Given the description of an element on the screen output the (x, y) to click on. 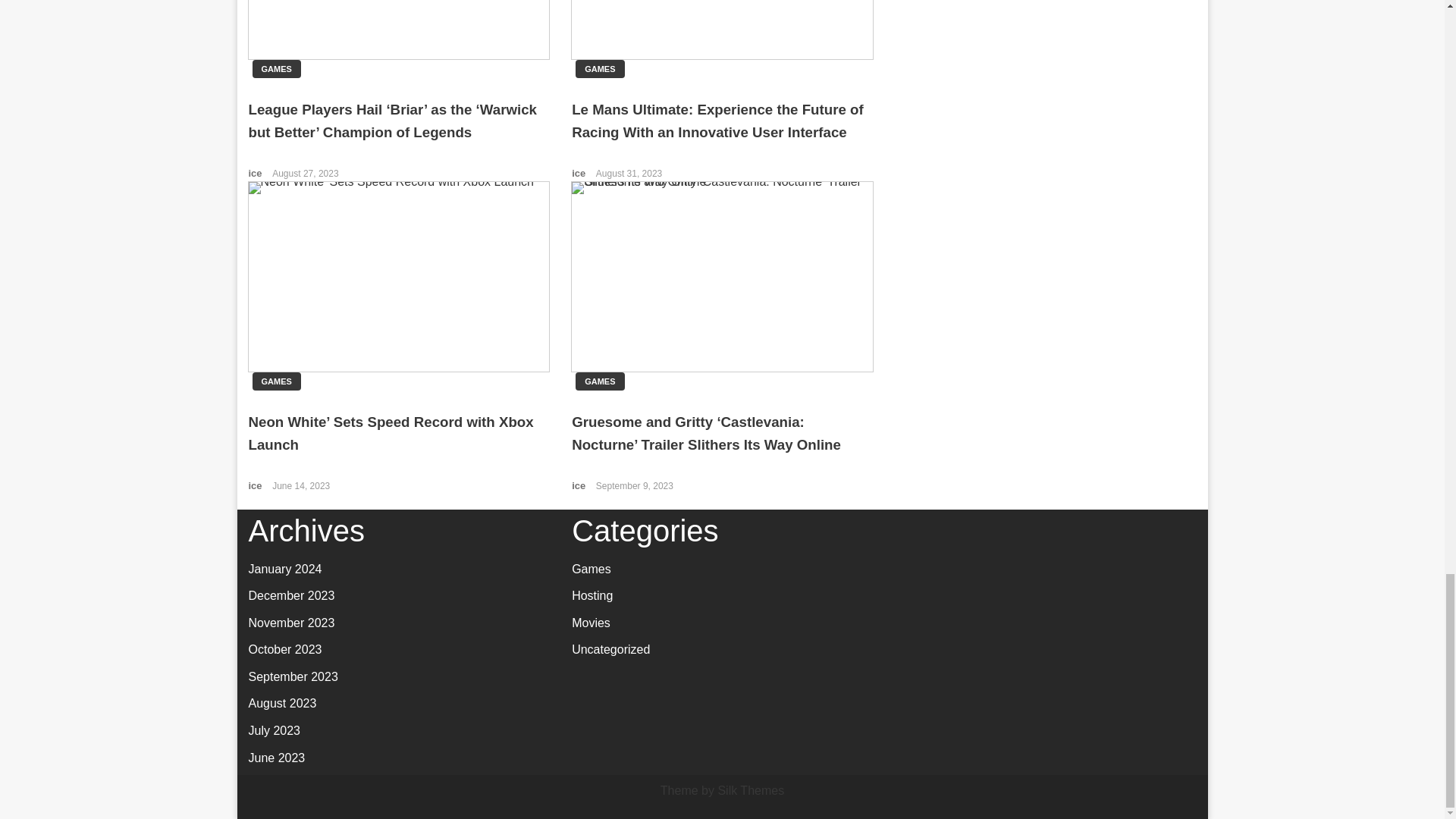
ice (580, 485)
GAMES (275, 68)
GAMES (275, 381)
ice (580, 173)
GAMES (599, 381)
ice (256, 485)
GAMES (599, 68)
ice (256, 173)
